Given the description of an element on the screen output the (x, y) to click on. 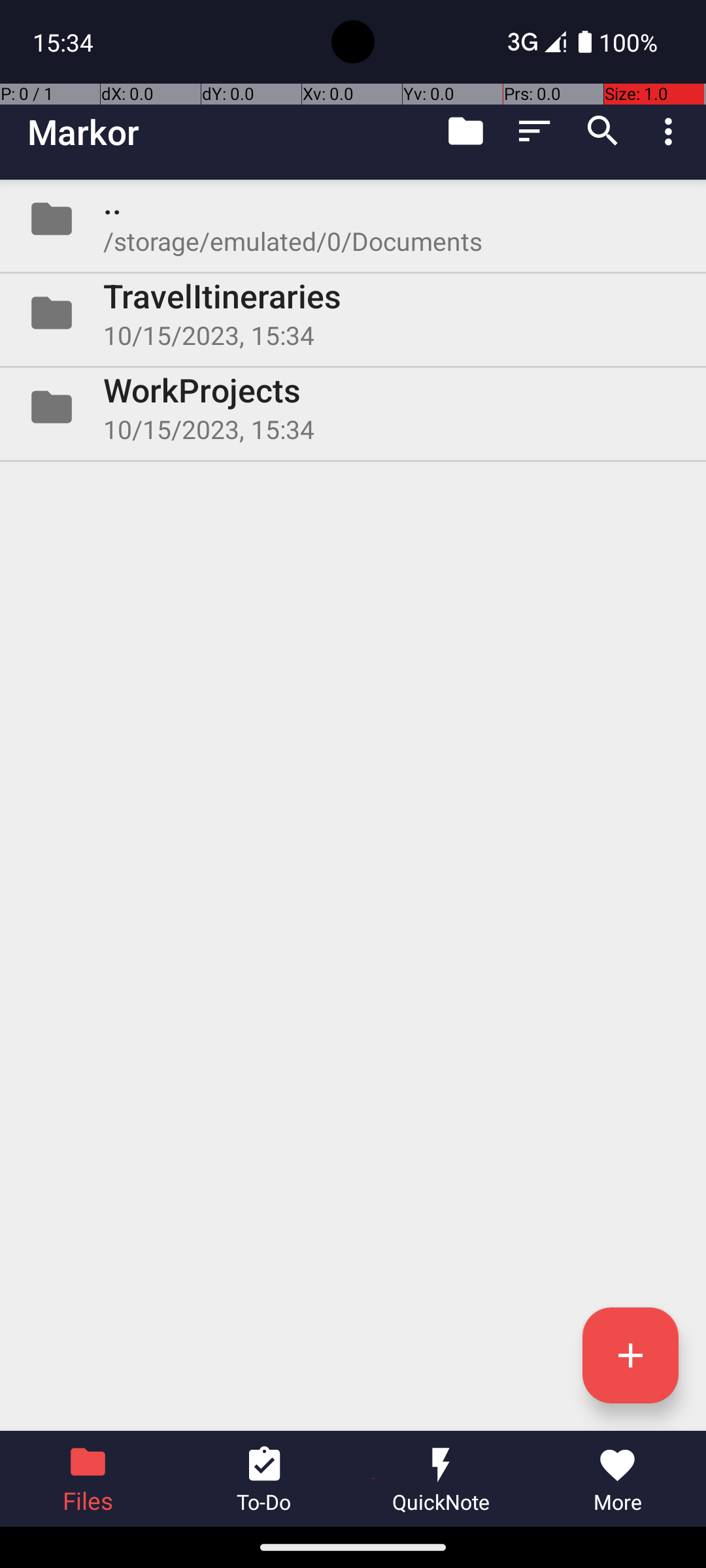
Folder TravelItineraries  Element type: android.widget.LinearLayout (353, 312)
Folder WorkProjects  Element type: android.widget.LinearLayout (353, 406)
